Given the description of an element on the screen output the (x, y) to click on. 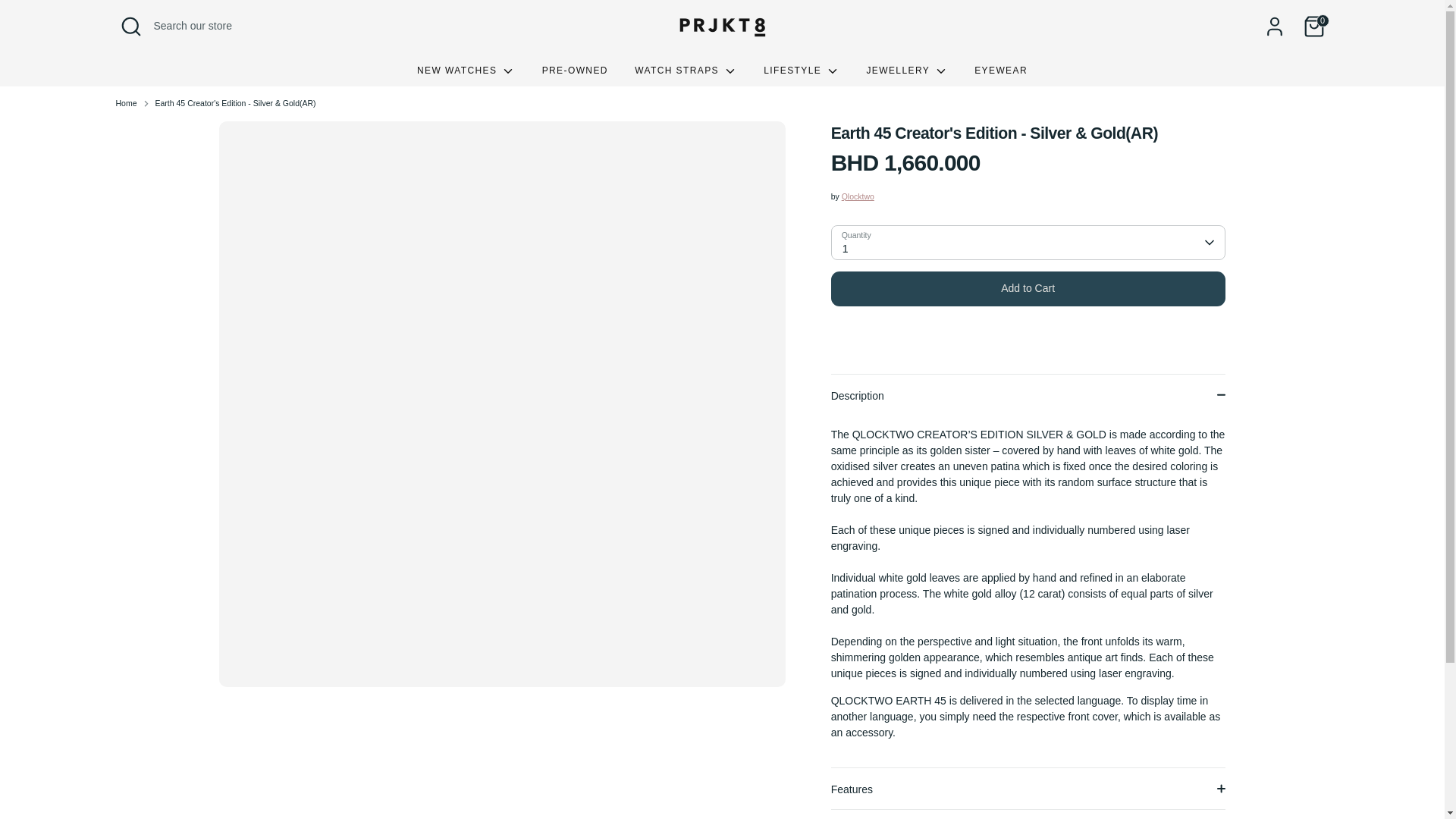
0 (1312, 26)
